Given the description of an element on the screen output the (x, y) to click on. 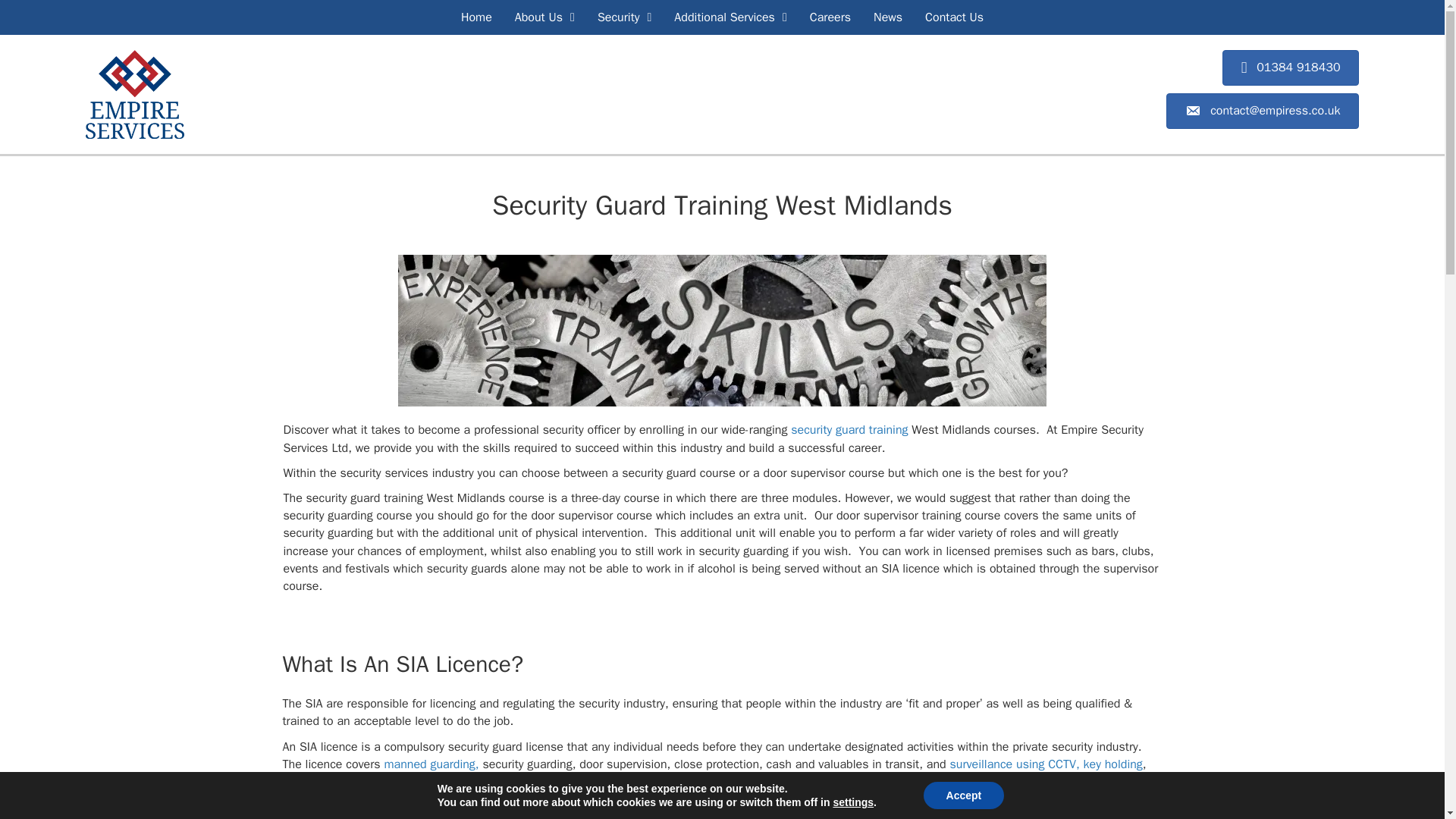
Careers (830, 17)
Security (624, 17)
surveillance using CCTV, (1013, 764)
01384 918430 (1291, 67)
News (888, 17)
Home (475, 17)
Additional Services (729, 17)
 mobile vehicle patrol (357, 781)
career development (721, 330)
key holding (1112, 764)
